Given the description of an element on the screen output the (x, y) to click on. 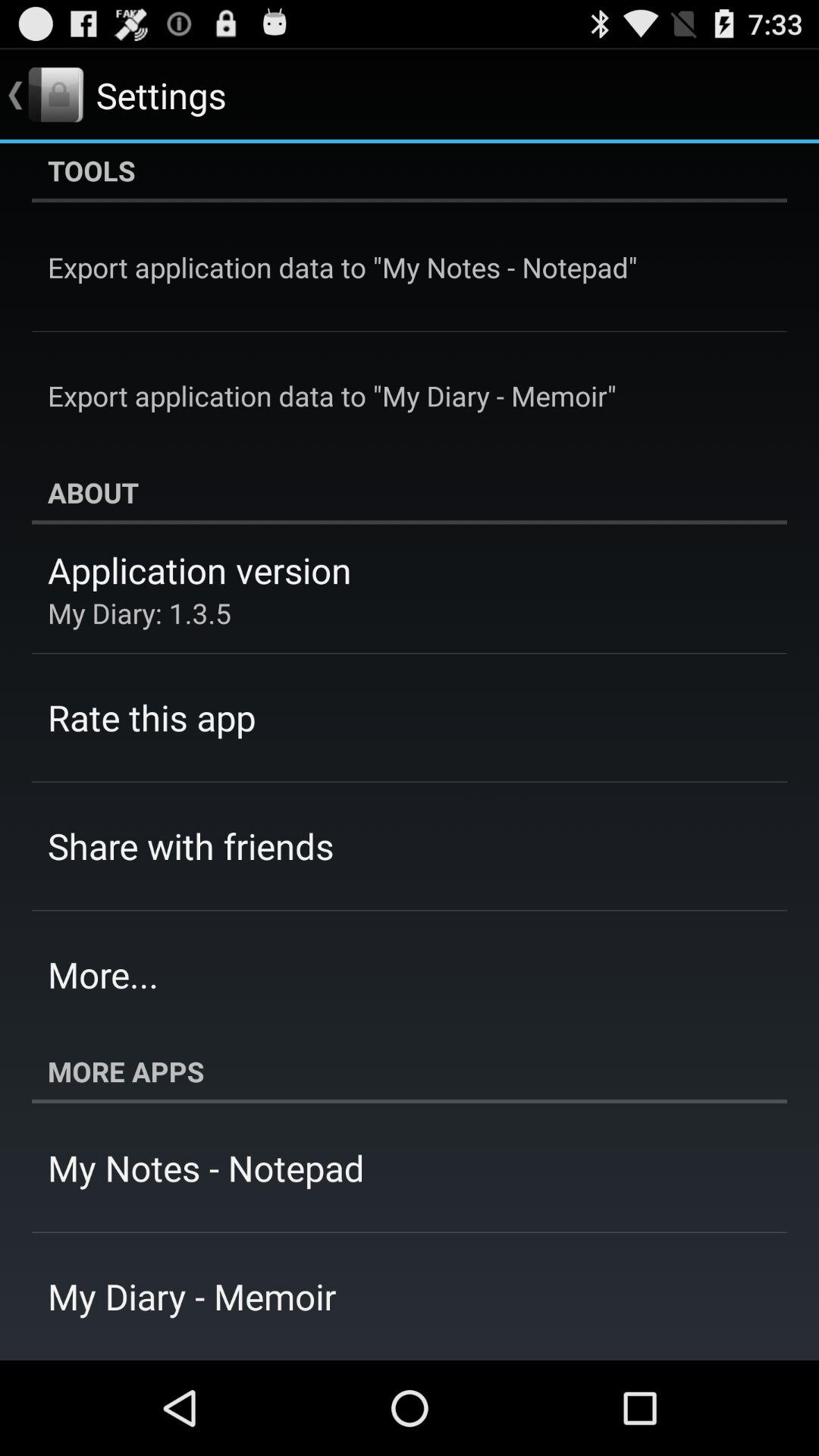
click app above my diary 1 app (199, 570)
